Given the description of an element on the screen output the (x, y) to click on. 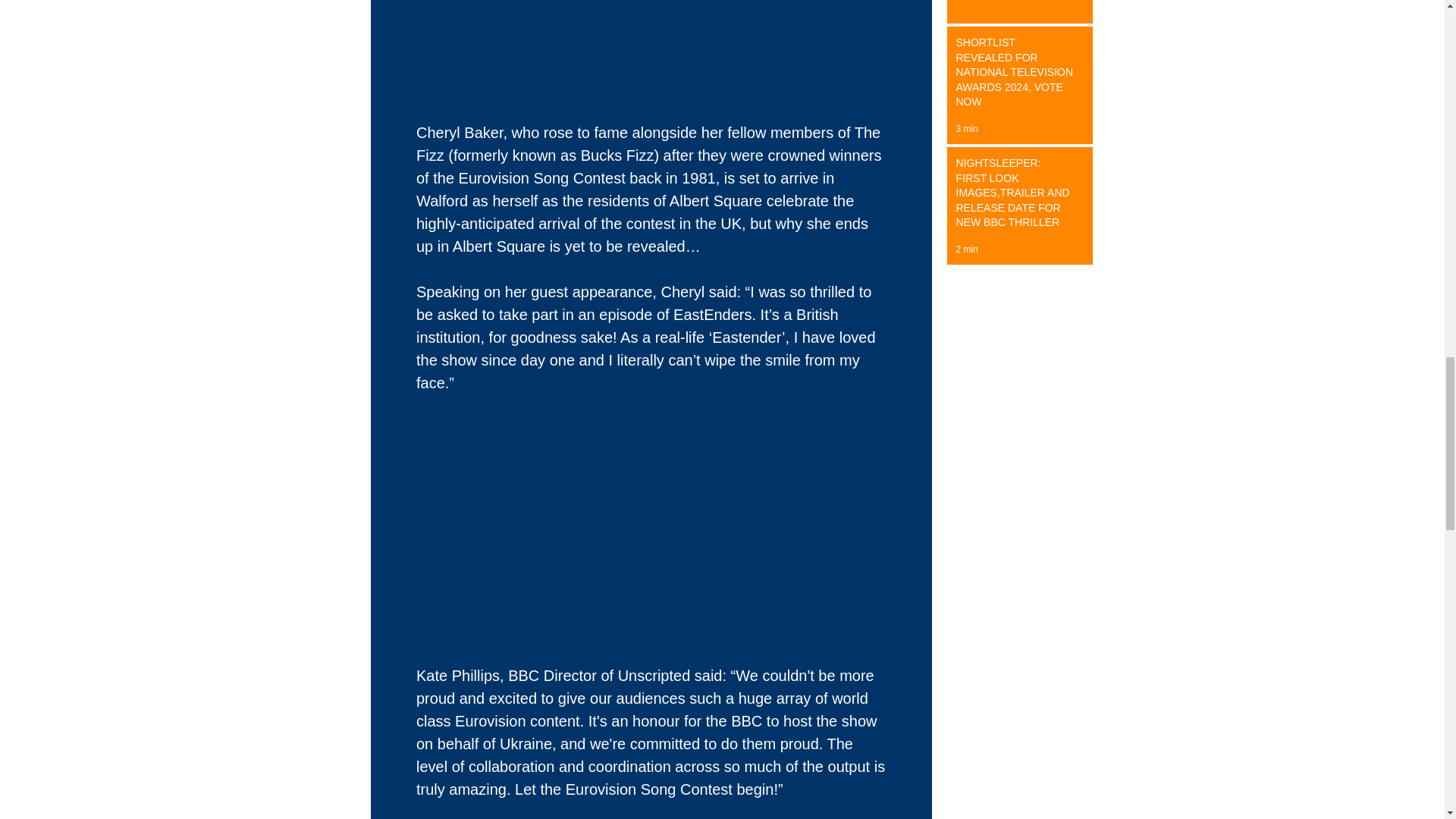
2 min (965, 249)
3 min (965, 128)
